Given the description of an element on the screen output the (x, y) to click on. 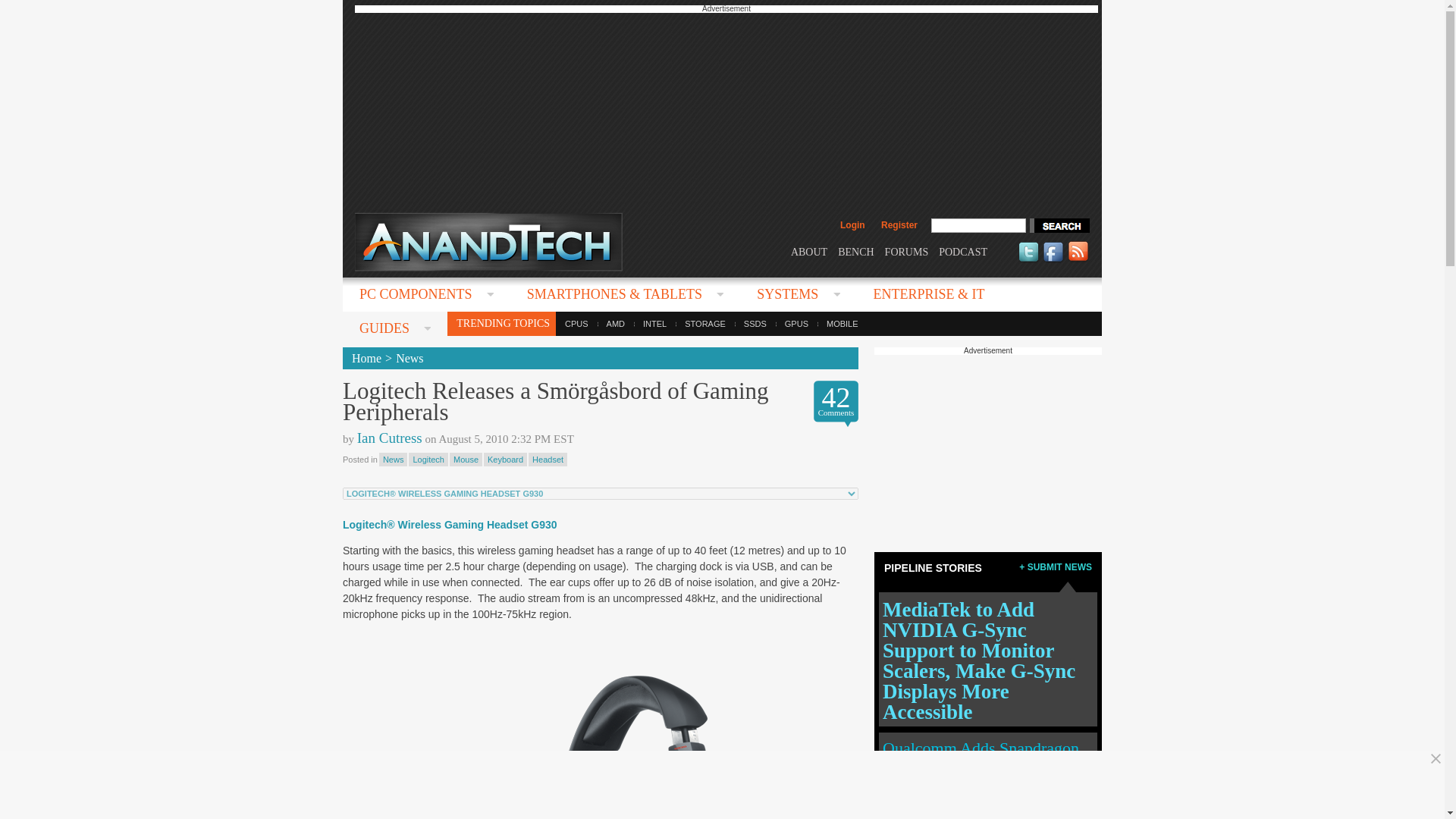
Register (898, 225)
Login (852, 225)
PODCAST (963, 251)
search (1059, 225)
search (1059, 225)
FORUMS (906, 251)
ABOUT (808, 251)
search (1059, 225)
BENCH (855, 251)
